Given the description of an element on the screen output the (x, y) to click on. 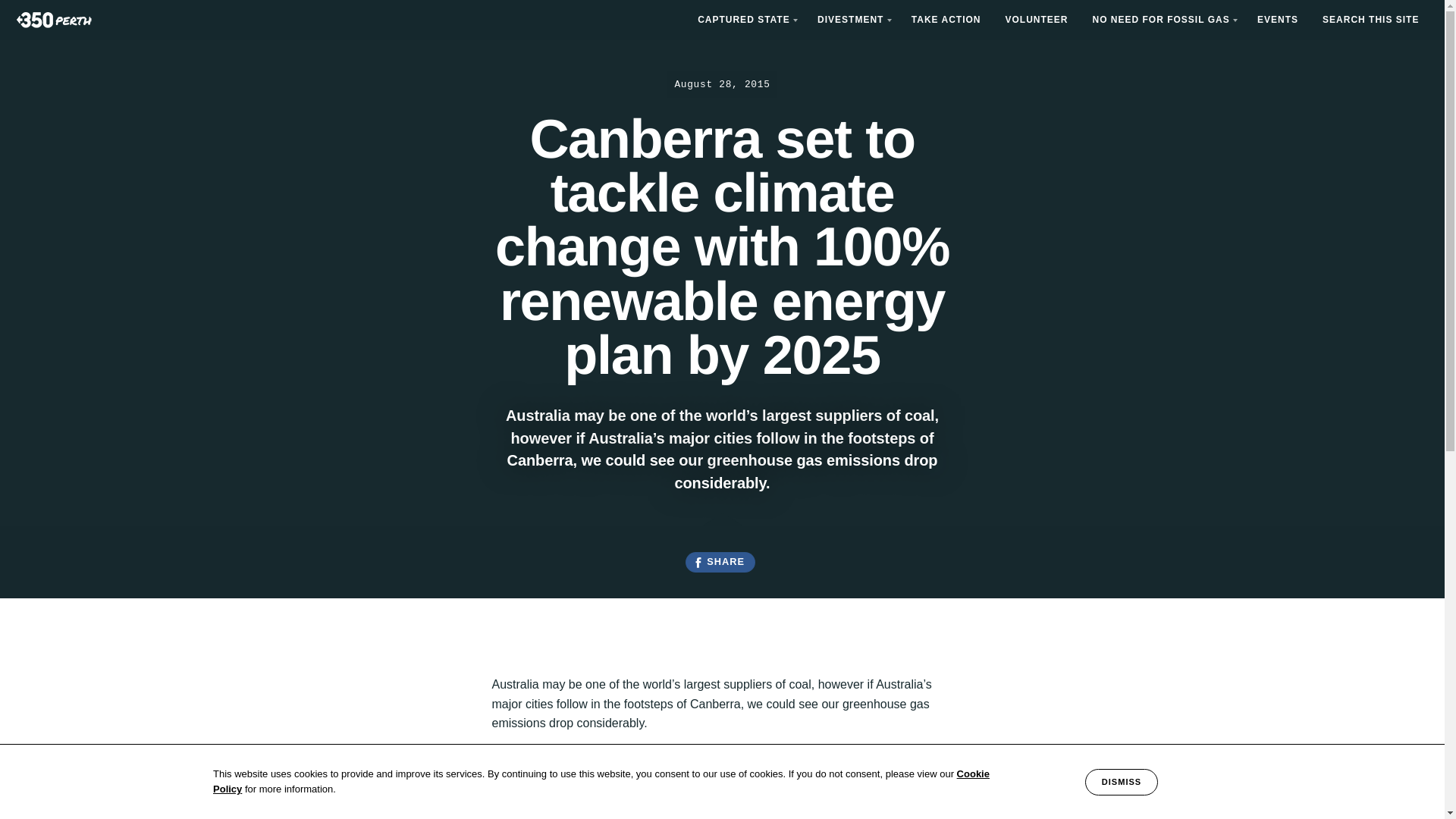
Cookie Policy (601, 781)
DIVESTMENT (852, 20)
VOLUNTEER (1036, 20)
TAKE ACTION (945, 20)
SHARE (719, 562)
CAPTURED STATE (745, 20)
SEARCH THIS SITE (1370, 20)
DISMISS (1120, 782)
NO NEED FOR FOSSIL GAS (1162, 20)
EVENTS (1277, 20)
